Given the description of an element on the screen output the (x, y) to click on. 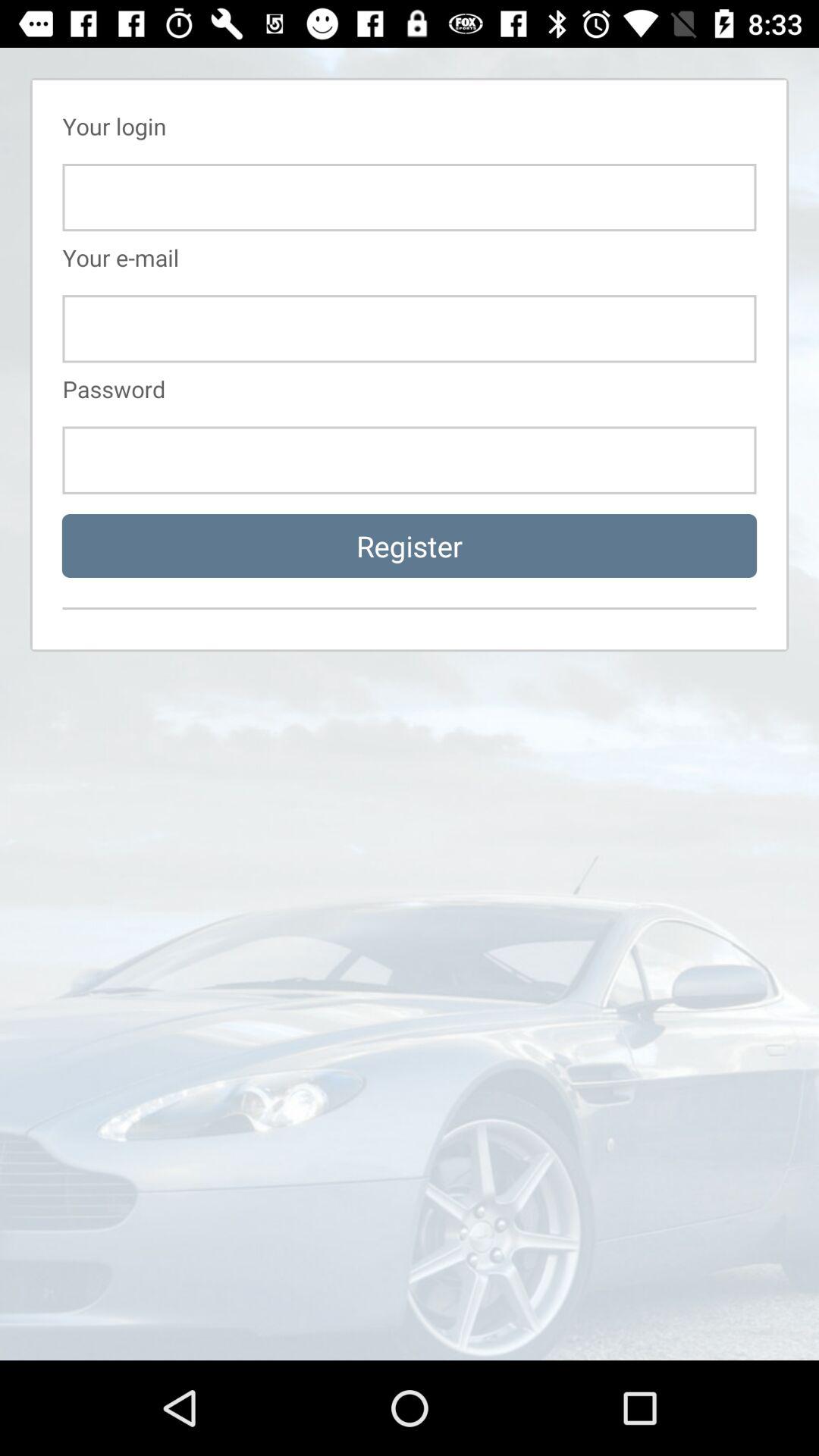
login page (409, 460)
